Given the description of an element on the screen output the (x, y) to click on. 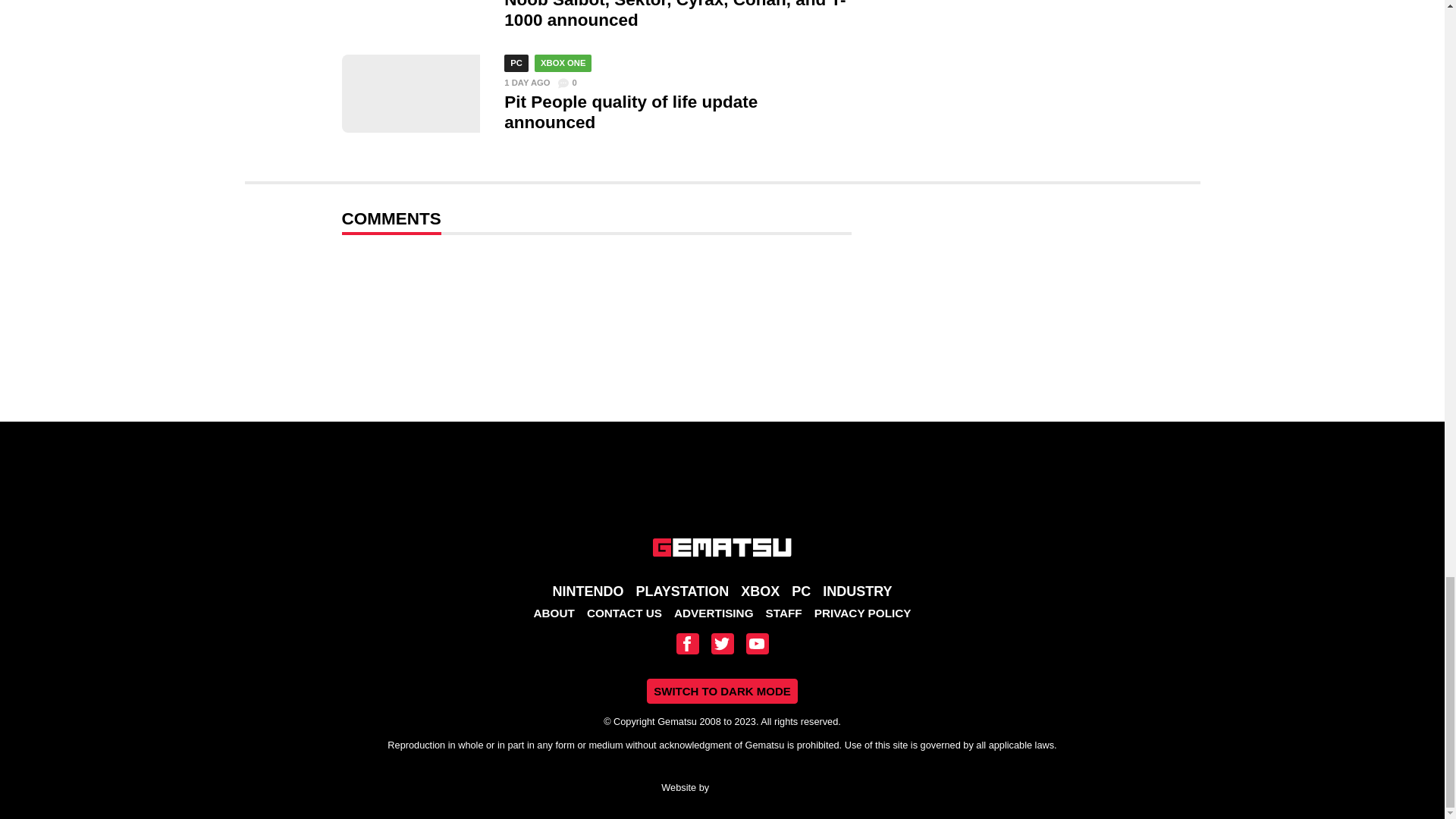
Gematsu (721, 547)
